Given the description of an element on the screen output the (x, y) to click on. 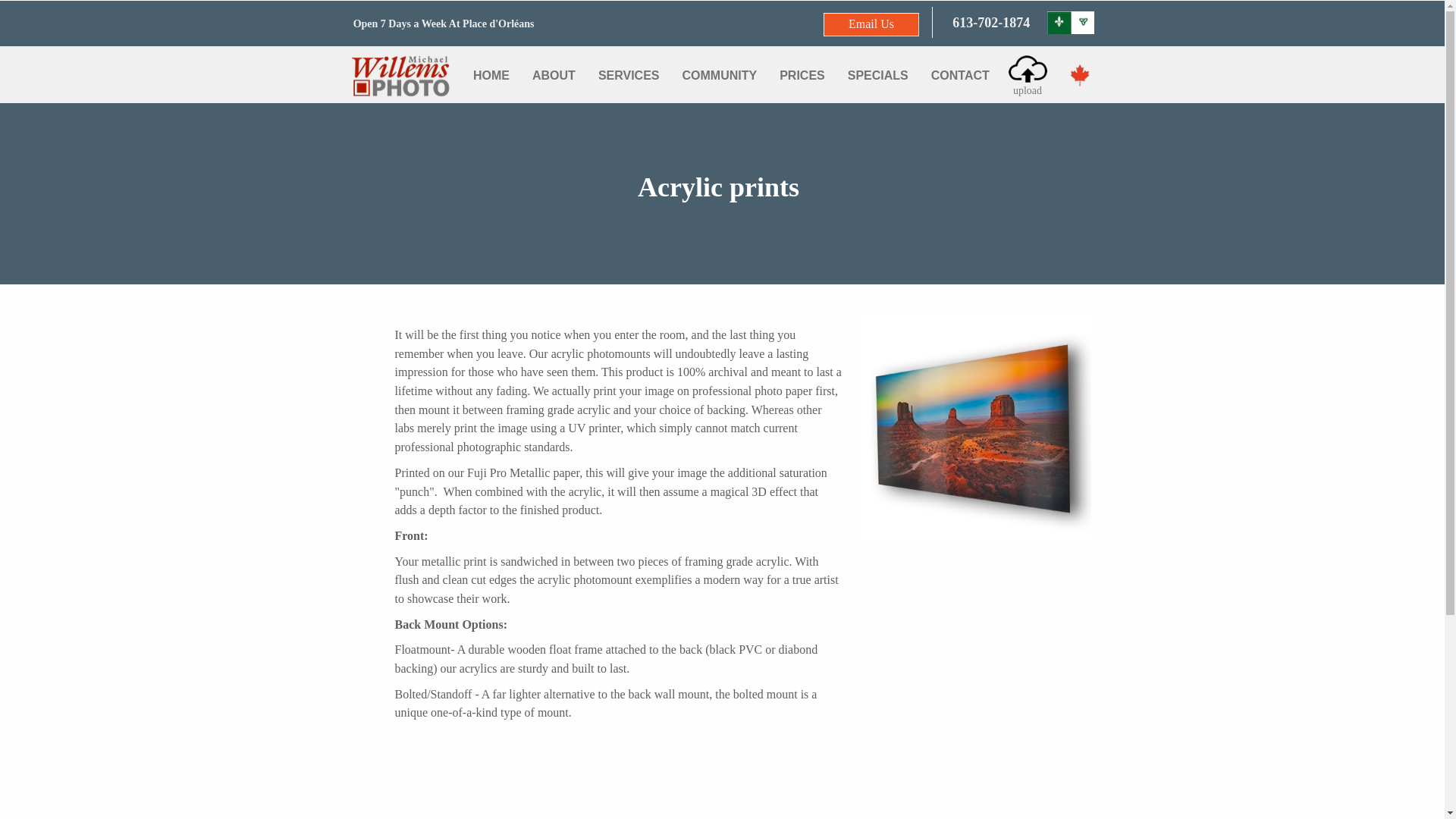
SERVICES (628, 74)
SPECIALS (877, 74)
ABOUT (553, 74)
PRICES (801, 74)
CONTACT (960, 74)
HOME (491, 74)
COMMUNITY (719, 74)
